Given the description of an element on the screen output the (x, y) to click on. 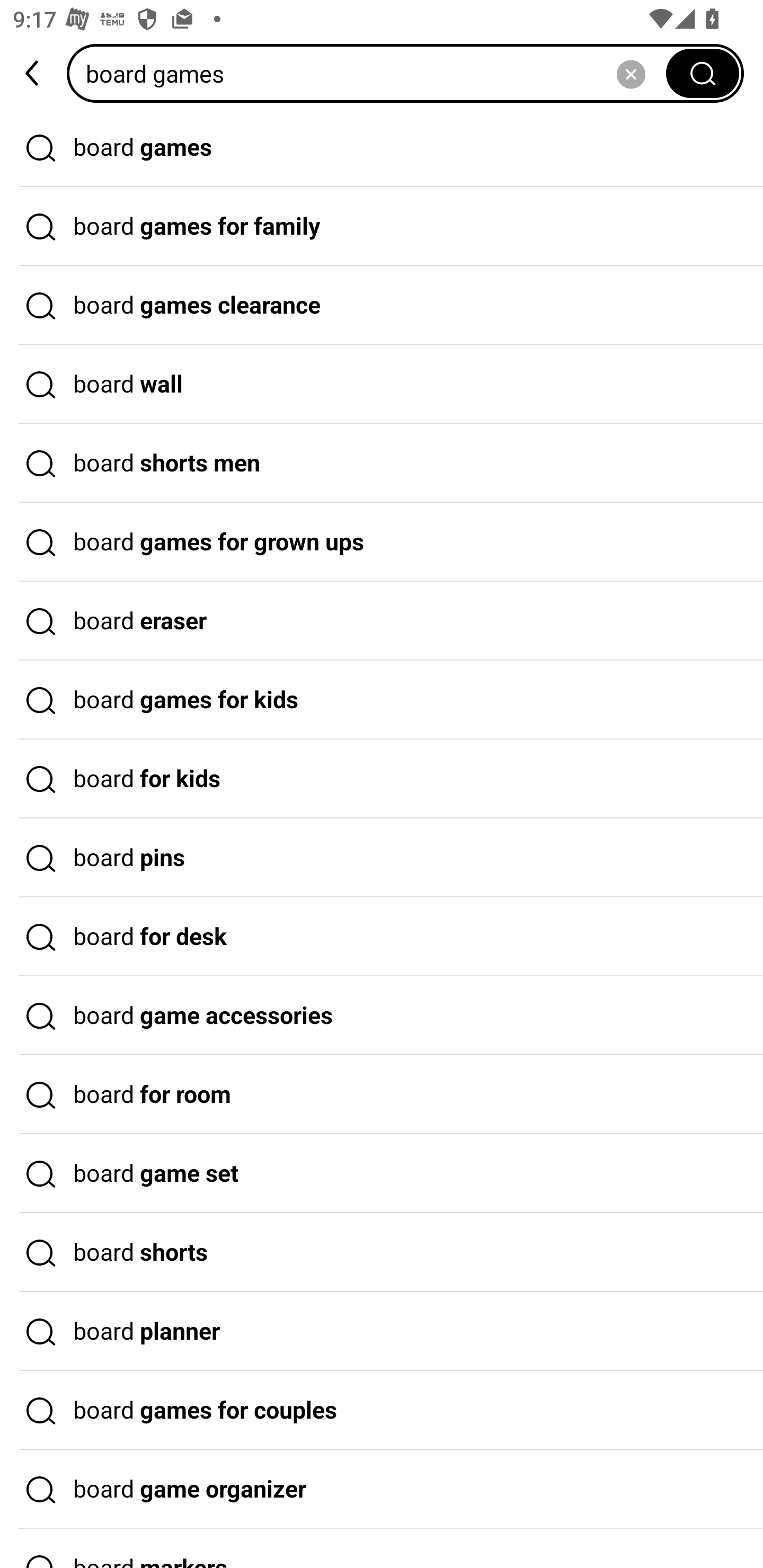
back (33, 72)
board games (372, 73)
Delete search history (630, 73)
board games (381, 147)
board games for family (381, 226)
board games clearance (381, 305)
board wall (381, 383)
board shorts men (381, 463)
board games for grown ups (381, 542)
board eraser (381, 620)
board games for kids (381, 700)
board for kids (381, 779)
board pins (381, 857)
board for desk (381, 936)
board game accessories (381, 1015)
board for room (381, 1094)
board game set (381, 1173)
board shorts (381, 1252)
board planner (381, 1331)
board games for couples (381, 1410)
board game organizer (381, 1489)
